Given the description of an element on the screen output the (x, y) to click on. 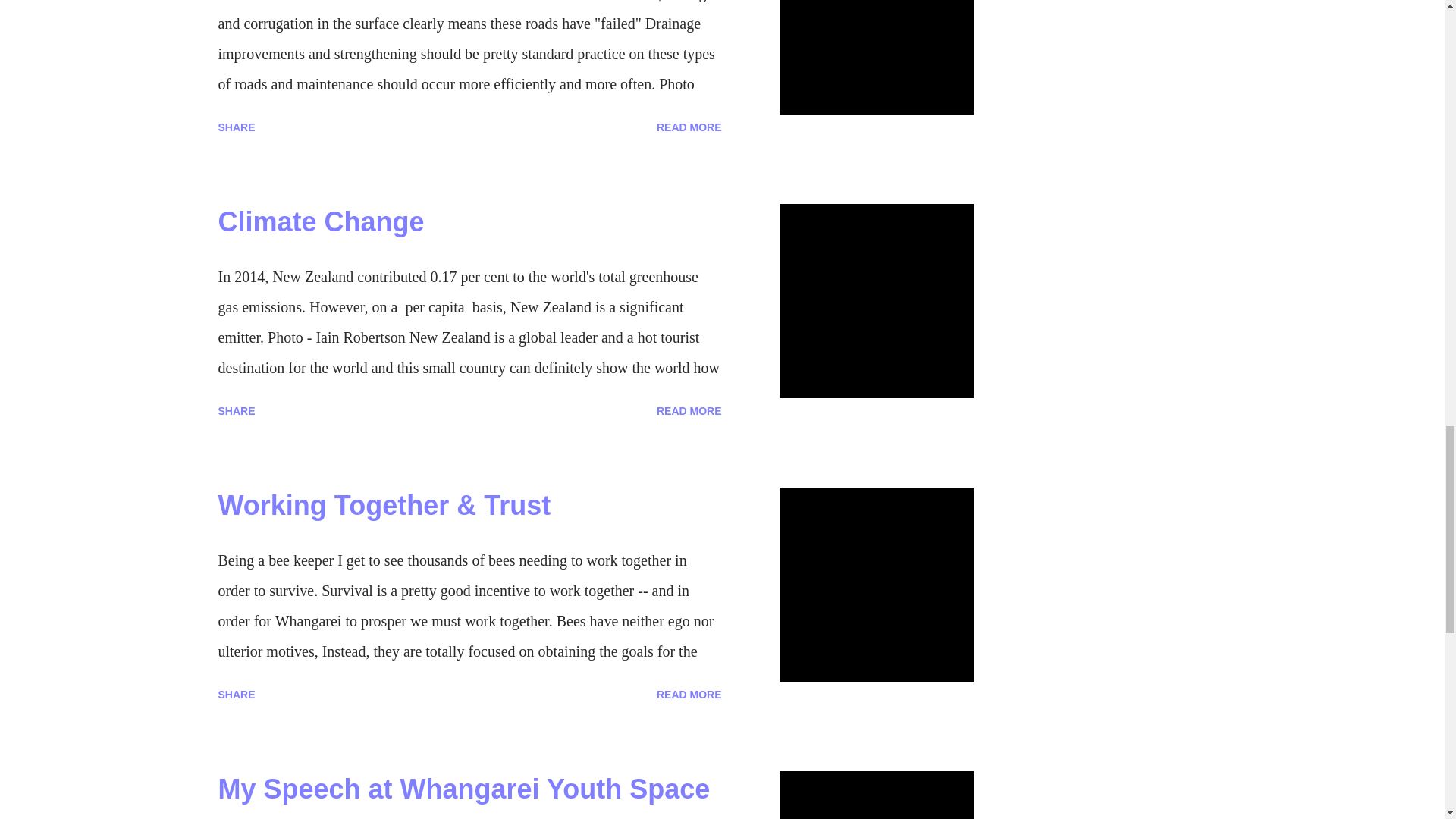
READ MORE (689, 127)
SHARE (237, 127)
Climate Change (321, 221)
